Given the description of an element on the screen output the (x, y) to click on. 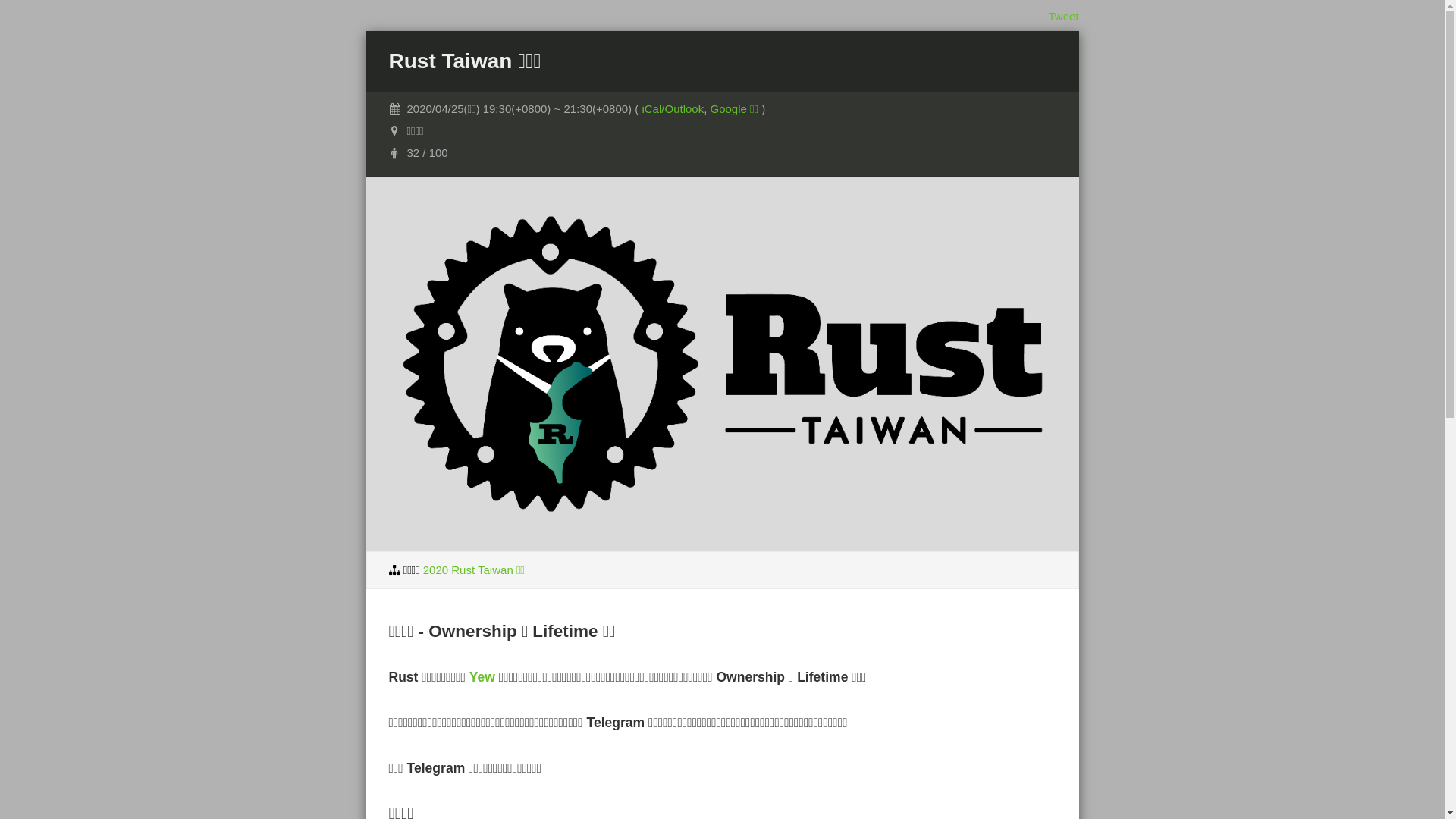
iCal/Outlook Element type: text (672, 108)
Yew Element type: text (482, 676)
Tweet Element type: text (1063, 15)
